Given the description of an element on the screen output the (x, y) to click on. 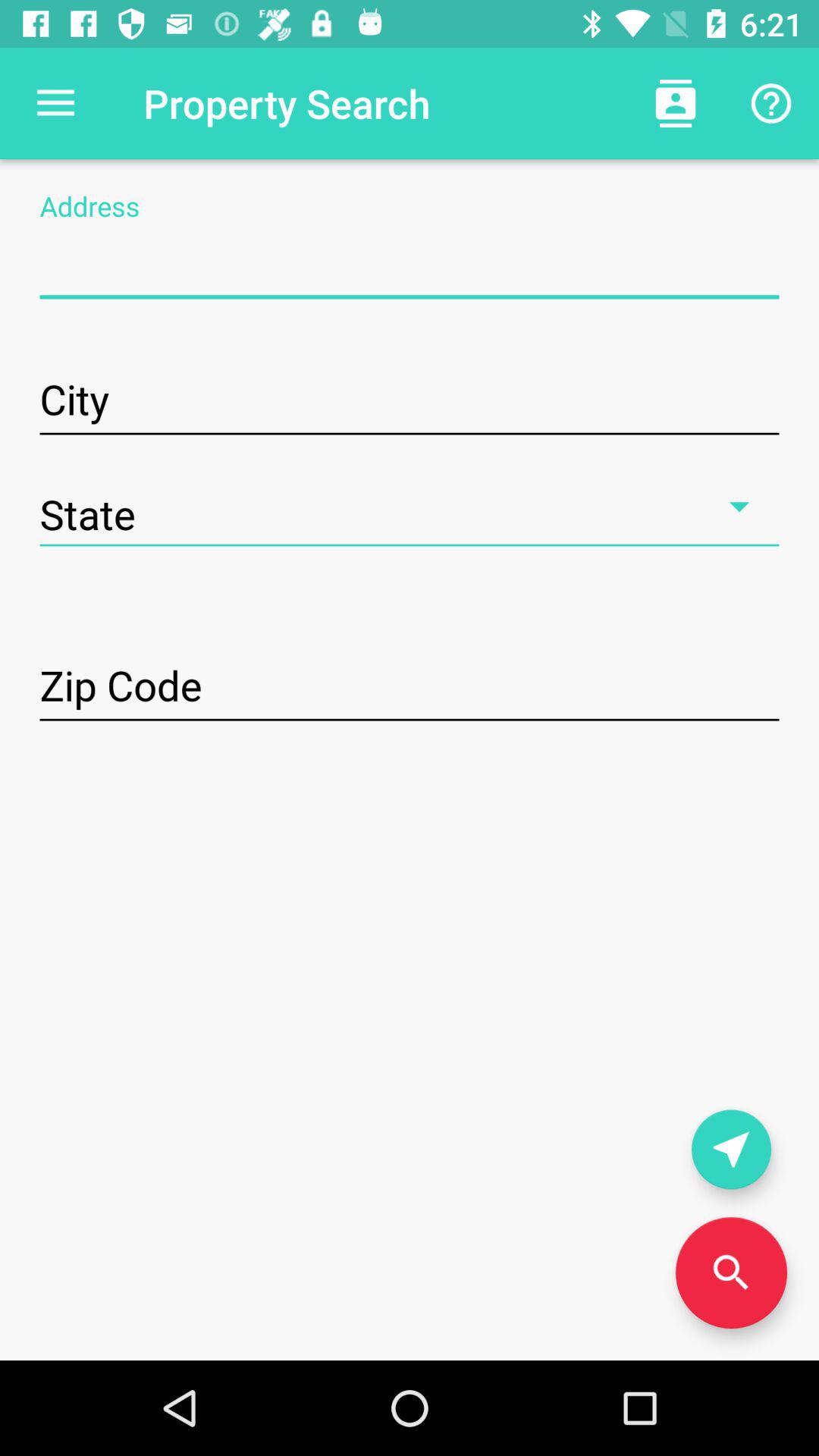
select the icon at the top left corner (55, 103)
